Given the description of an element on the screen output the (x, y) to click on. 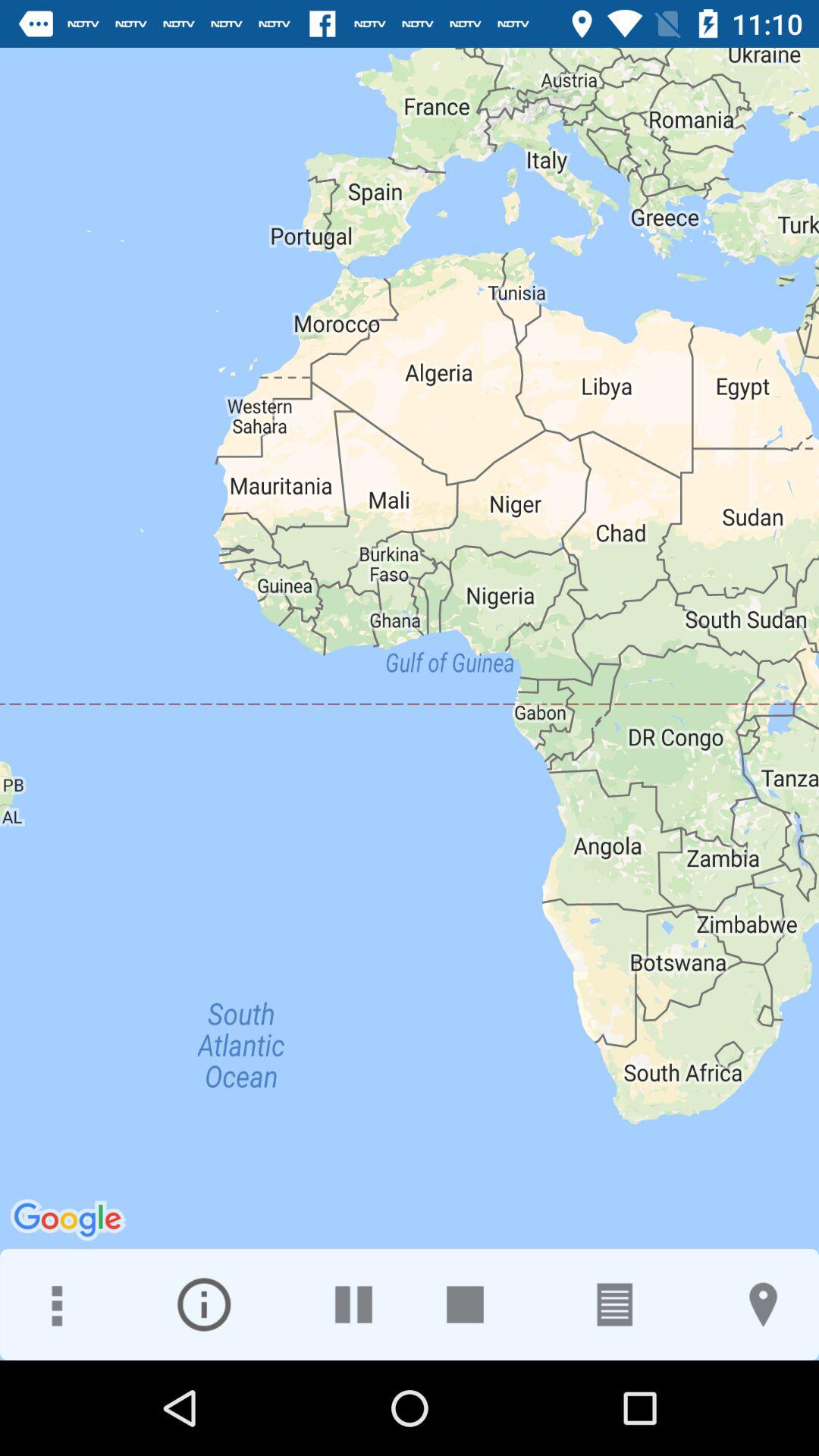
click icon at the center (409, 703)
